Given the description of an element on the screen output the (x, y) to click on. 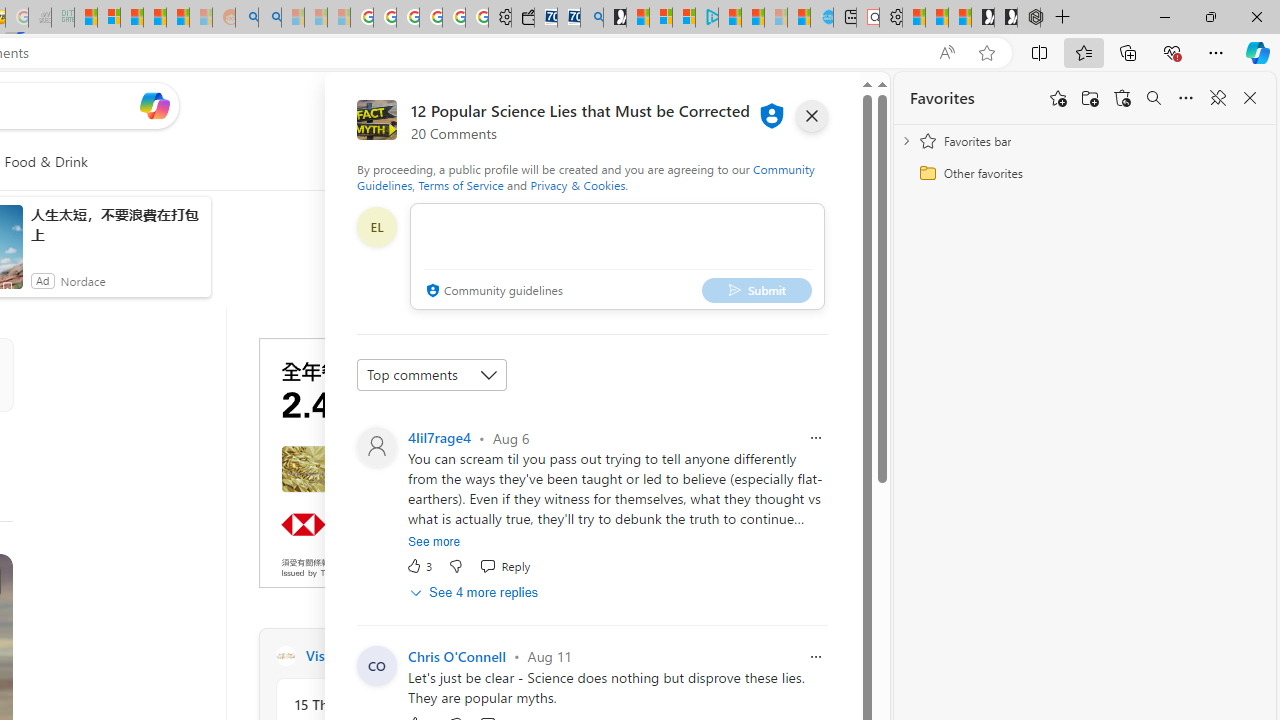
Community Guidelines (586, 176)
Profile Picture (376, 665)
Reply Reply Comment (505, 565)
Visit Craft Your Happy Place website (532, 655)
Add this page to favorites (1058, 98)
Submit (756, 290)
Profile Picture (376, 446)
